Given the description of an element on the screen output the (x, y) to click on. 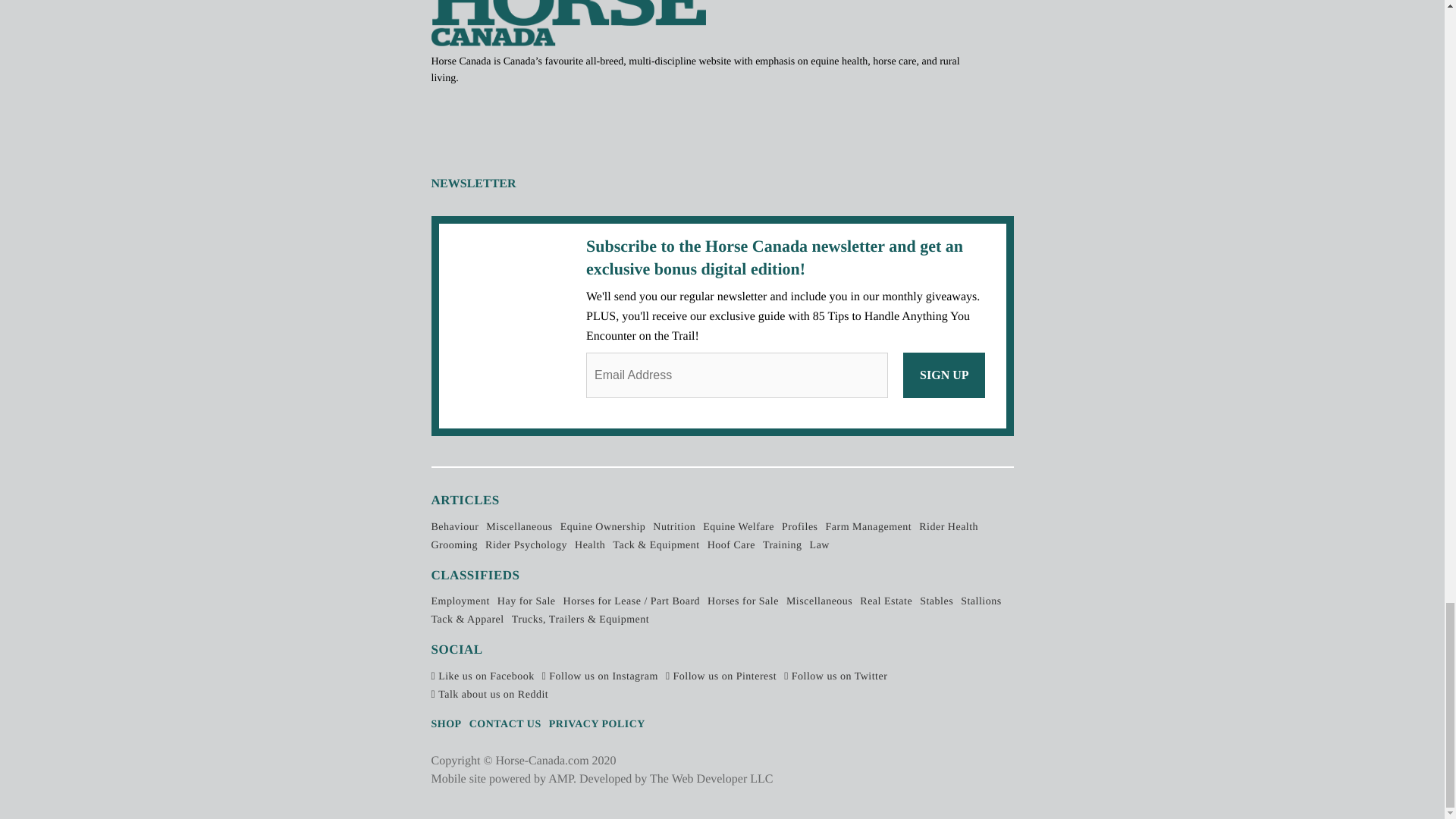
Law (819, 545)
Miscellaneous (818, 601)
Sign Up (943, 375)
Nutrition (673, 527)
Rider Health (948, 527)
Stallions (980, 601)
Farm Management (868, 527)
Health (590, 545)
Employment (459, 601)
Training (782, 545)
